Given the description of an element on the screen output the (x, y) to click on. 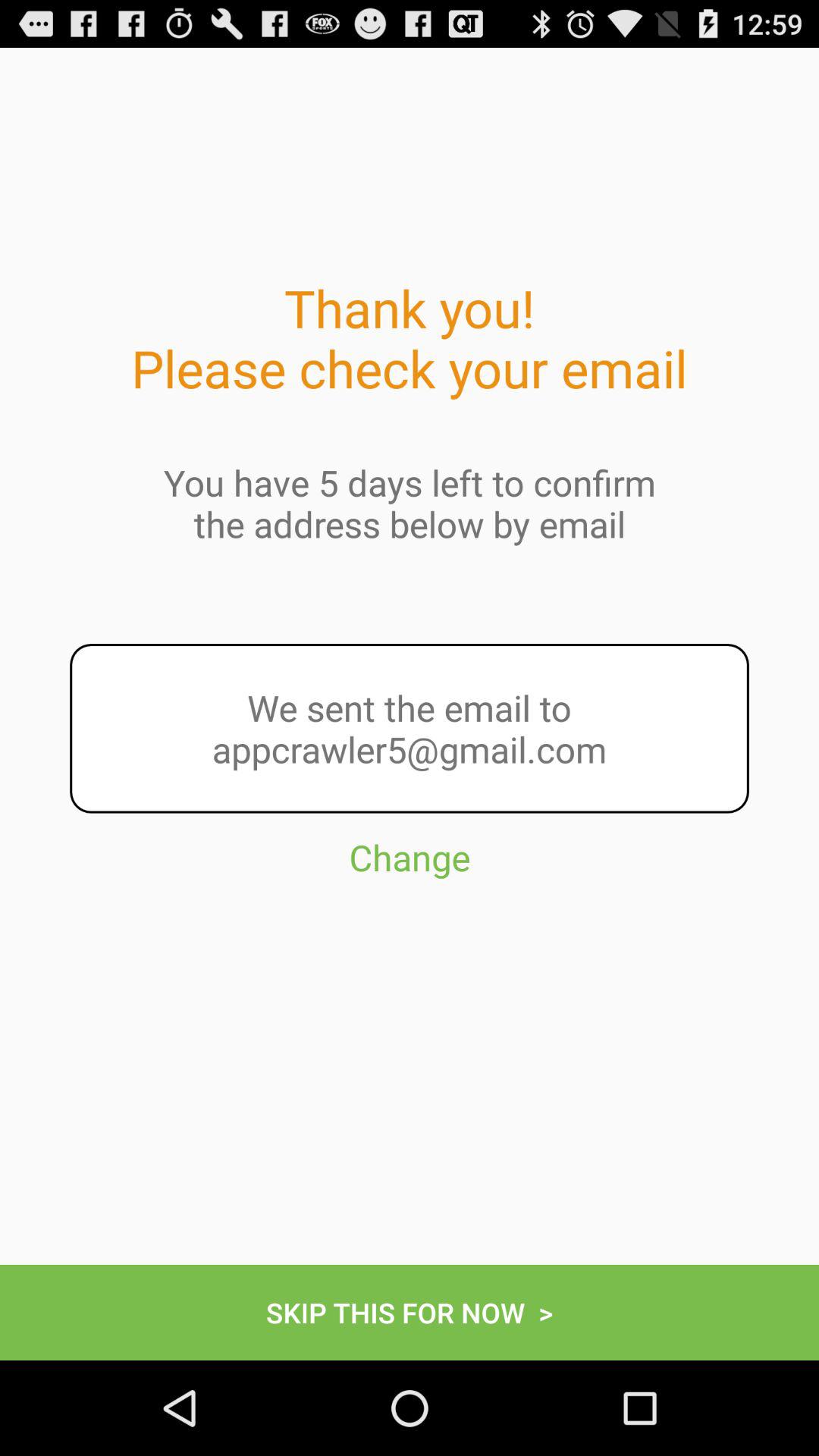
launch the icon below we sent the item (409, 926)
